Given the description of an element on the screen output the (x, y) to click on. 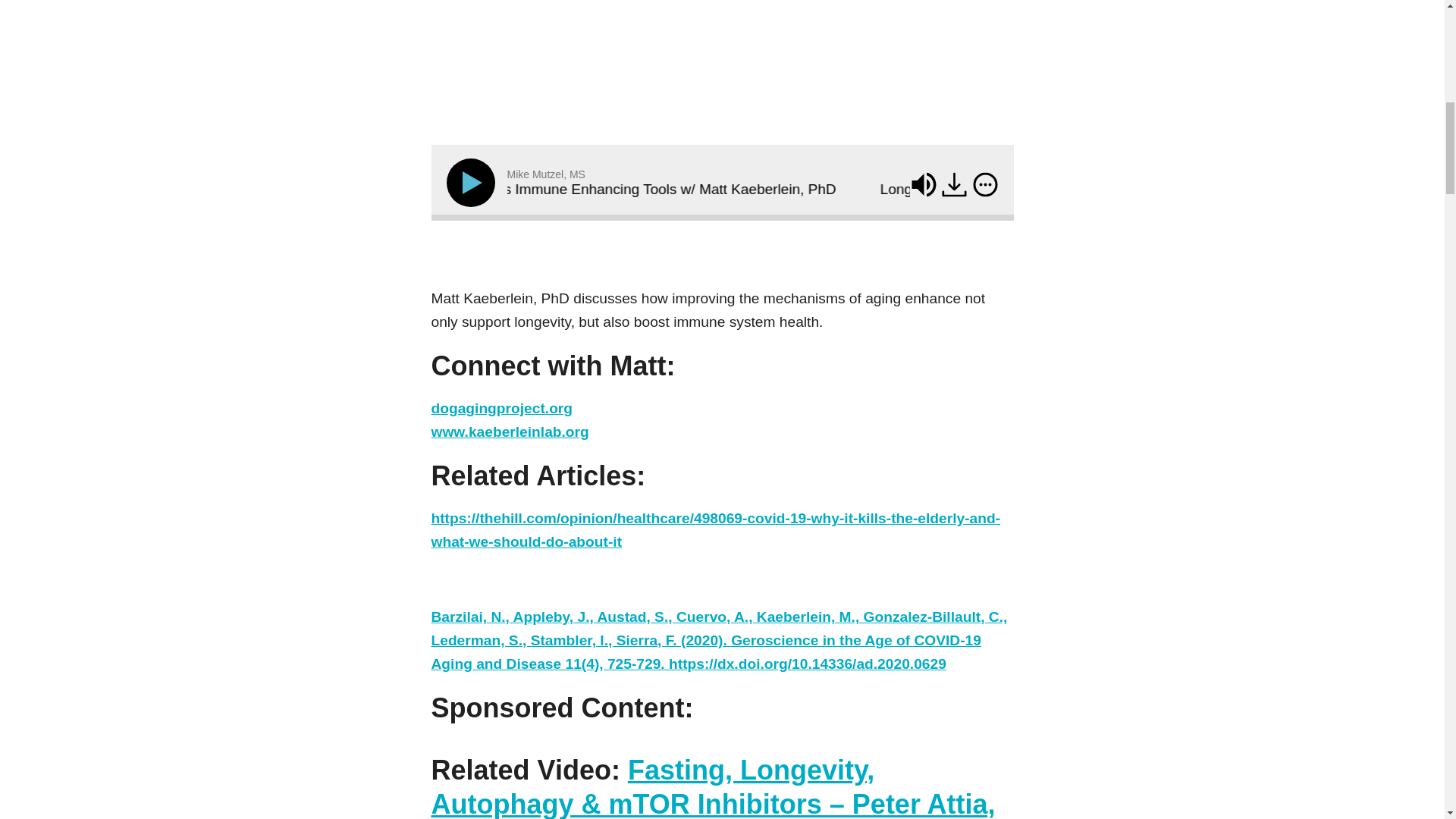
Download (954, 183)
More (985, 183)
Download (955, 187)
dogagingproject.org (501, 408)
www.kaeberleinlab.org (509, 431)
